Given the description of an element on the screen output the (x, y) to click on. 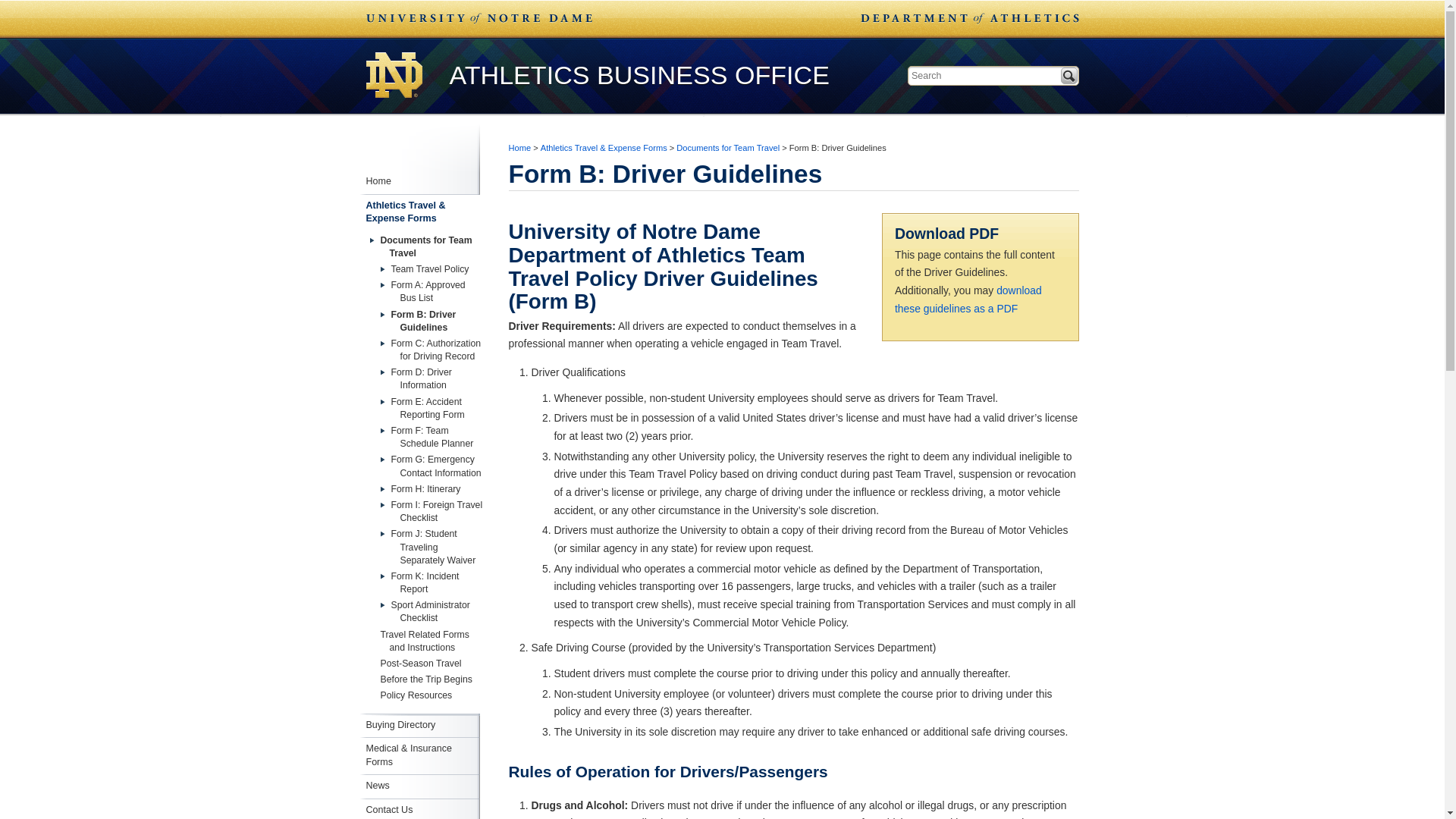
Travel Related Forms and Instructions (420, 641)
Documents for Team Travel (420, 247)
Form C: Authorization for Driving Record (431, 350)
Form K: Incident Report (431, 583)
Form F: Team Schedule Planner (431, 437)
Home (519, 147)
Home (422, 181)
Sport Administrator Checklist (431, 611)
Search (1068, 75)
Form A: Approved Bus List (431, 291)
